Given the description of an element on the screen output the (x, y) to click on. 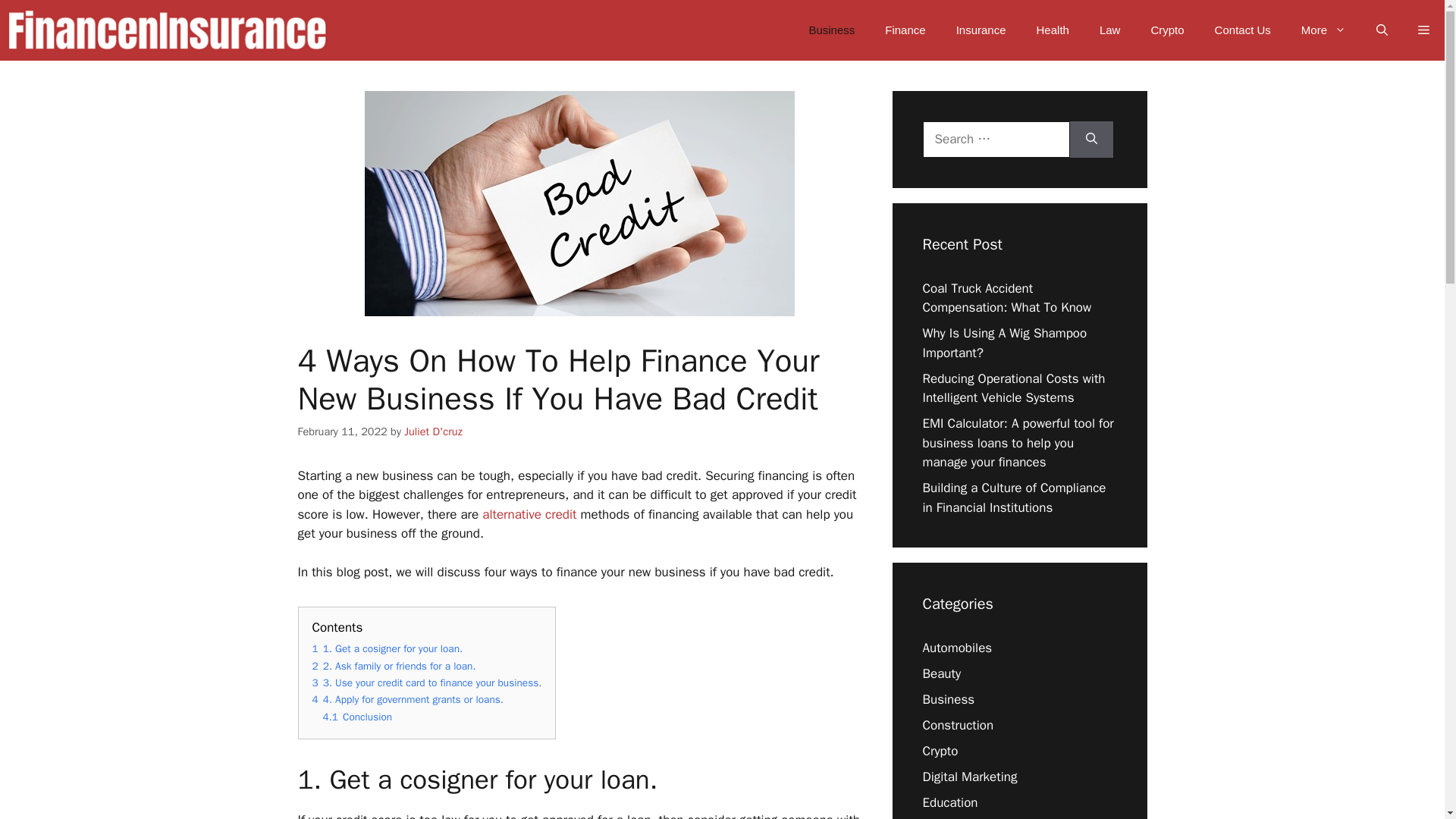
3 3. Use your credit card to finance your business. (427, 682)
Finance (904, 30)
Coal Truck Accident Compensation: What To Know (1005, 298)
Beauty (940, 673)
Health (1053, 30)
Building a Culture of Compliance in Financial Institutions (1013, 497)
More (1323, 30)
View all posts by Juliet D'cruz (432, 431)
Reducing Operational Costs with Intelligent Vehicle Systems (1013, 387)
4.1 Conclusion (358, 716)
